Given the description of an element on the screen output the (x, y) to click on. 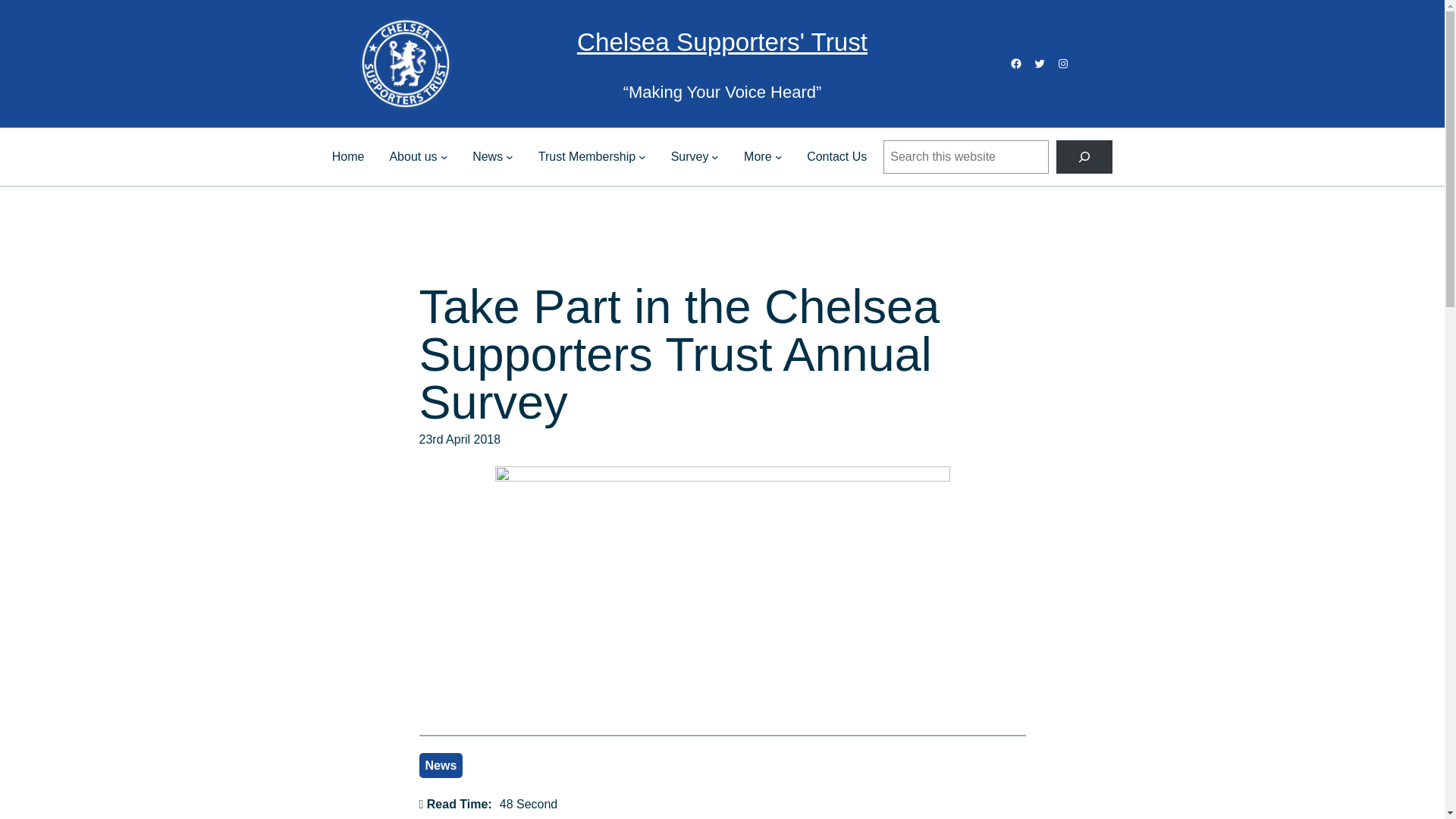
Instagram (1062, 63)
Twitter (1038, 63)
Chelsea Supporters' Trust (721, 41)
Survey (690, 157)
Facebook (1016, 63)
Trust Membership (586, 157)
Home (348, 157)
About us (412, 157)
More (757, 157)
News (486, 157)
